Given the description of an element on the screen output the (x, y) to click on. 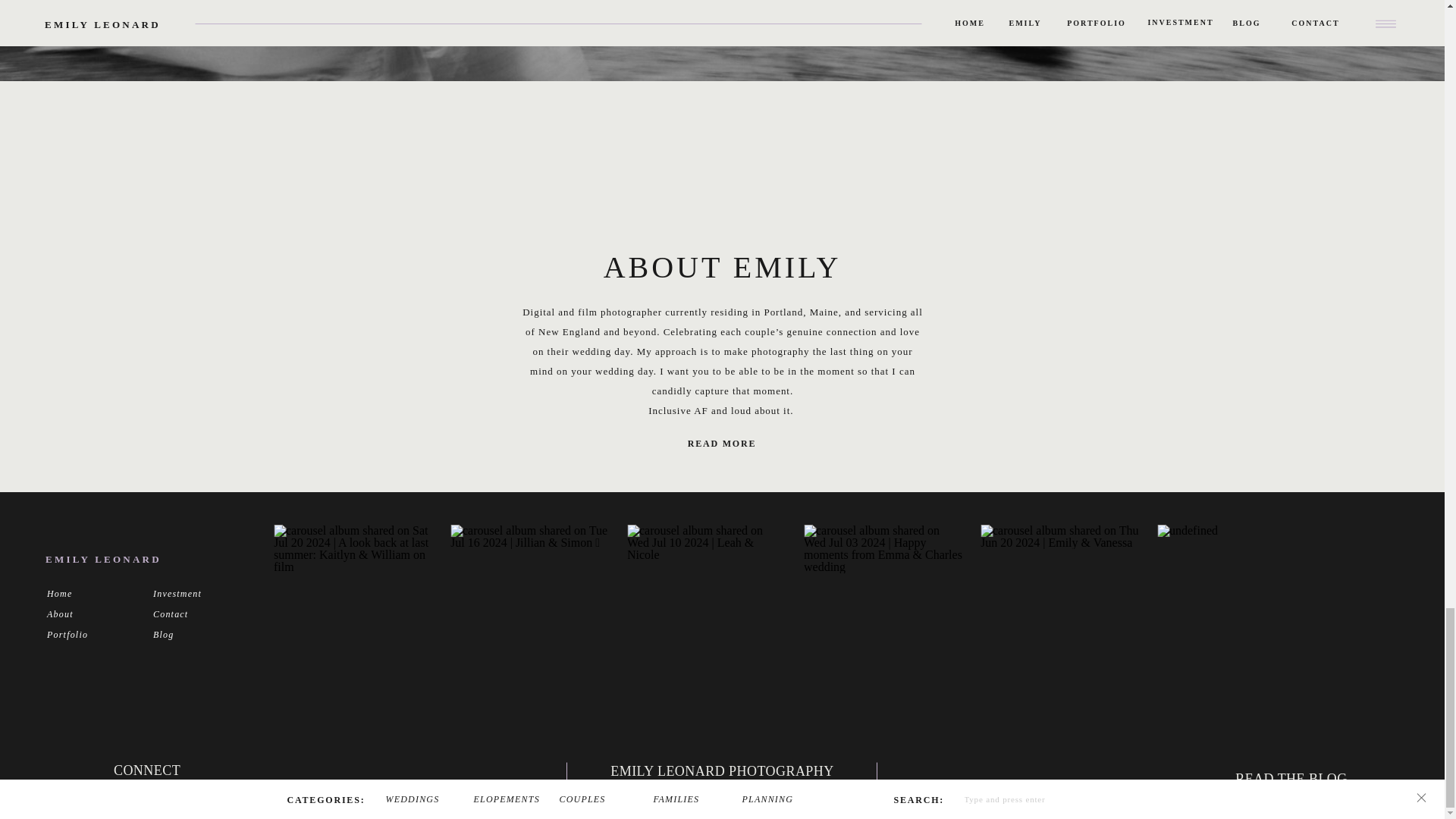
READ MORE (721, 443)
Blog (188, 633)
Investment (188, 592)
Portfolio (82, 633)
Home (82, 592)
About (82, 613)
Contact (188, 613)
